Given the description of an element on the screen output the (x, y) to click on. 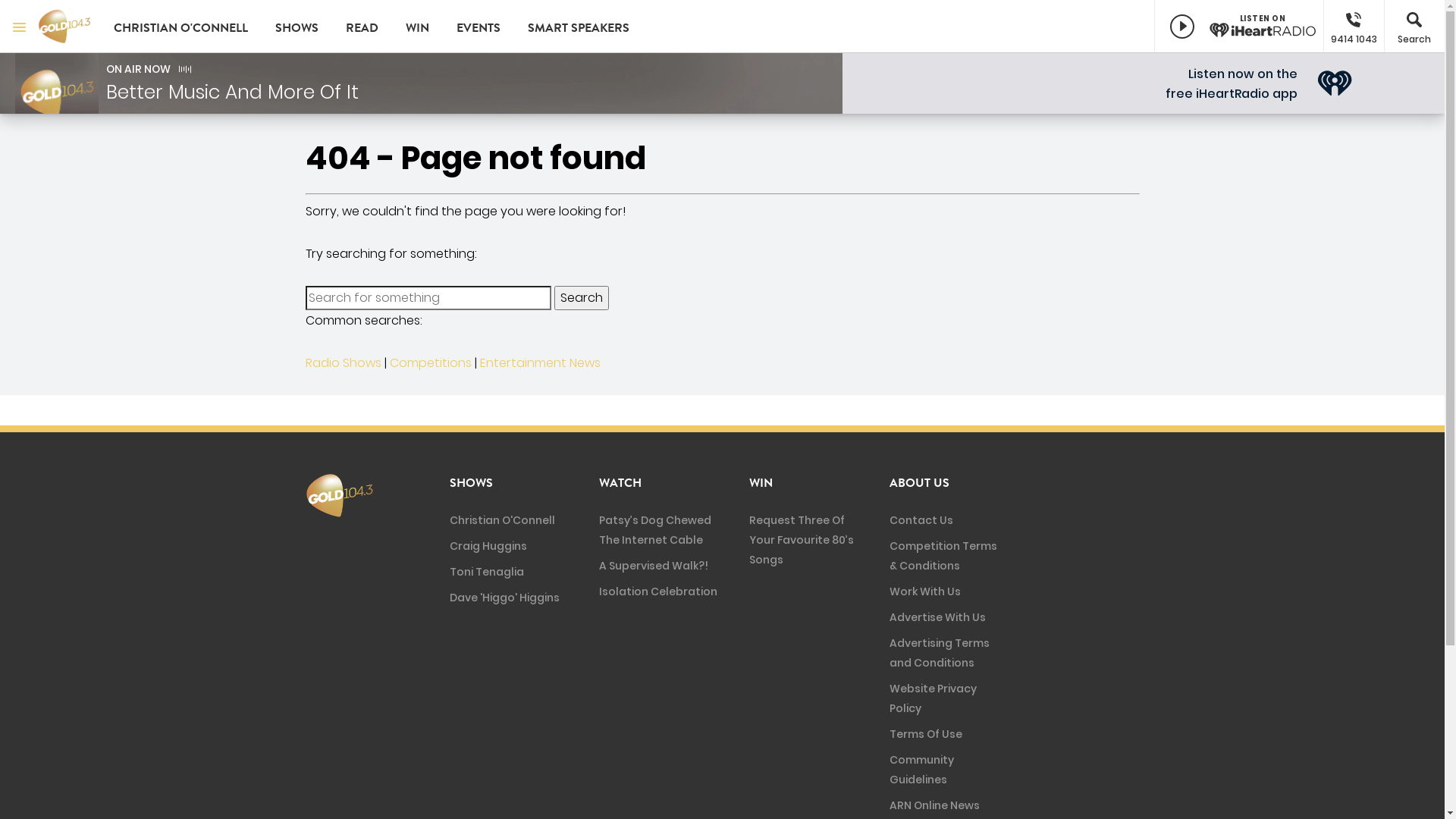
Advertising Terms and Conditions Element type: text (939, 652)
READ Element type: text (361, 26)
Terms Of Use Element type: text (925, 733)
Toni Tenaglia Element type: text (485, 571)
SHOWS Element type: text (296, 26)
Competitions Element type: text (430, 362)
Menu Element type: text (18, 26)
WIN Element type: text (417, 26)
Better Music And More Of It Element type: text (232, 92)
Entertainment News Element type: text (539, 362)
Listen now on the
free iHeartRadio app Element type: text (1231, 83)
Isolation Celebration Element type: text (658, 591)
ABOUT US Element type: text (919, 482)
ON AIR NOW Element type: text (138, 68)
Website Privacy Policy Element type: text (932, 697)
CHRISTIAN O'CONNELL Element type: text (180, 26)
Radio Shows Element type: text (342, 362)
Advertise With Us Element type: text (937, 616)
Contact Us Element type: text (921, 519)
Craig Huggins Element type: text (487, 545)
Search Element type: text (1413, 26)
Search Element type: text (580, 297)
Community Guidelines Element type: text (921, 769)
WIN Element type: text (760, 482)
Dave 'Higgo' Higgins Element type: text (503, 597)
SMART SPEAKERS Element type: text (578, 26)
WATCH Element type: text (620, 482)
9414 1043 Element type: text (1353, 26)
LISTEN ON Element type: text (1238, 26)
A Supervised Walk?! Element type: text (653, 565)
iHeart Element type: text (1334, 82)
SHOWS Element type: text (470, 482)
Competition Terms & Conditions Element type: text (943, 555)
Work With Us Element type: text (924, 591)
EVENTS Element type: text (478, 26)
Christian O'Connell Element type: text (501, 519)
